Given the description of an element on the screen output the (x, y) to click on. 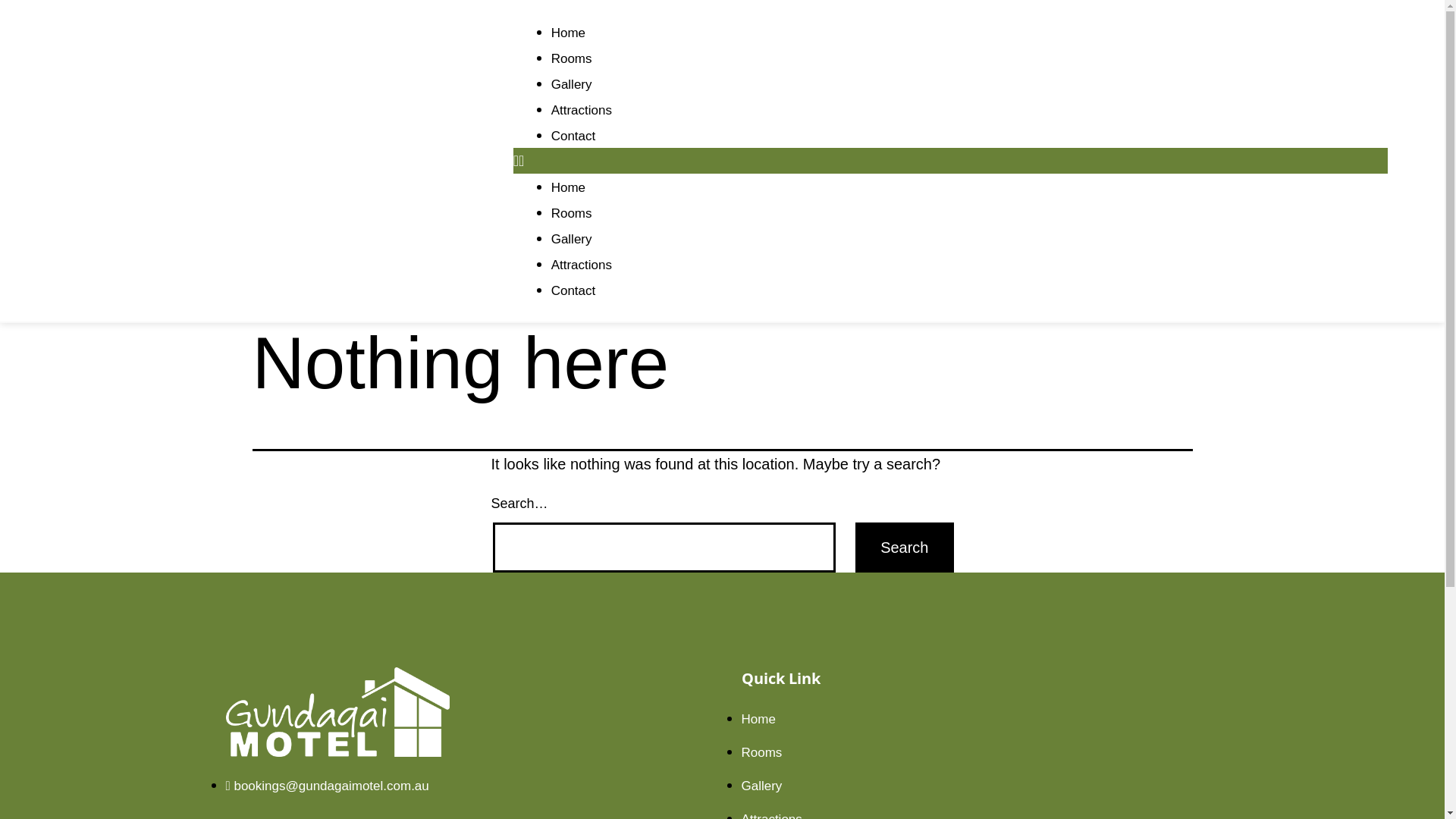
Gallery Element type: text (571, 84)
Rooms Element type: text (571, 213)
Home Element type: text (568, 32)
bookings@gundagaimotel.com.au Element type: text (327, 785)
Home Element type: text (758, 719)
Search Element type: text (904, 547)
Rooms Element type: text (571, 58)
Contact Element type: text (573, 135)
Gallery Element type: text (761, 785)
Rooms Element type: text (761, 752)
Attractions Element type: text (581, 110)
Gallery Element type: text (571, 239)
Contact Element type: text (573, 290)
Attractions Element type: text (581, 264)
Home Element type: text (568, 187)
